Given the description of an element on the screen output the (x, y) to click on. 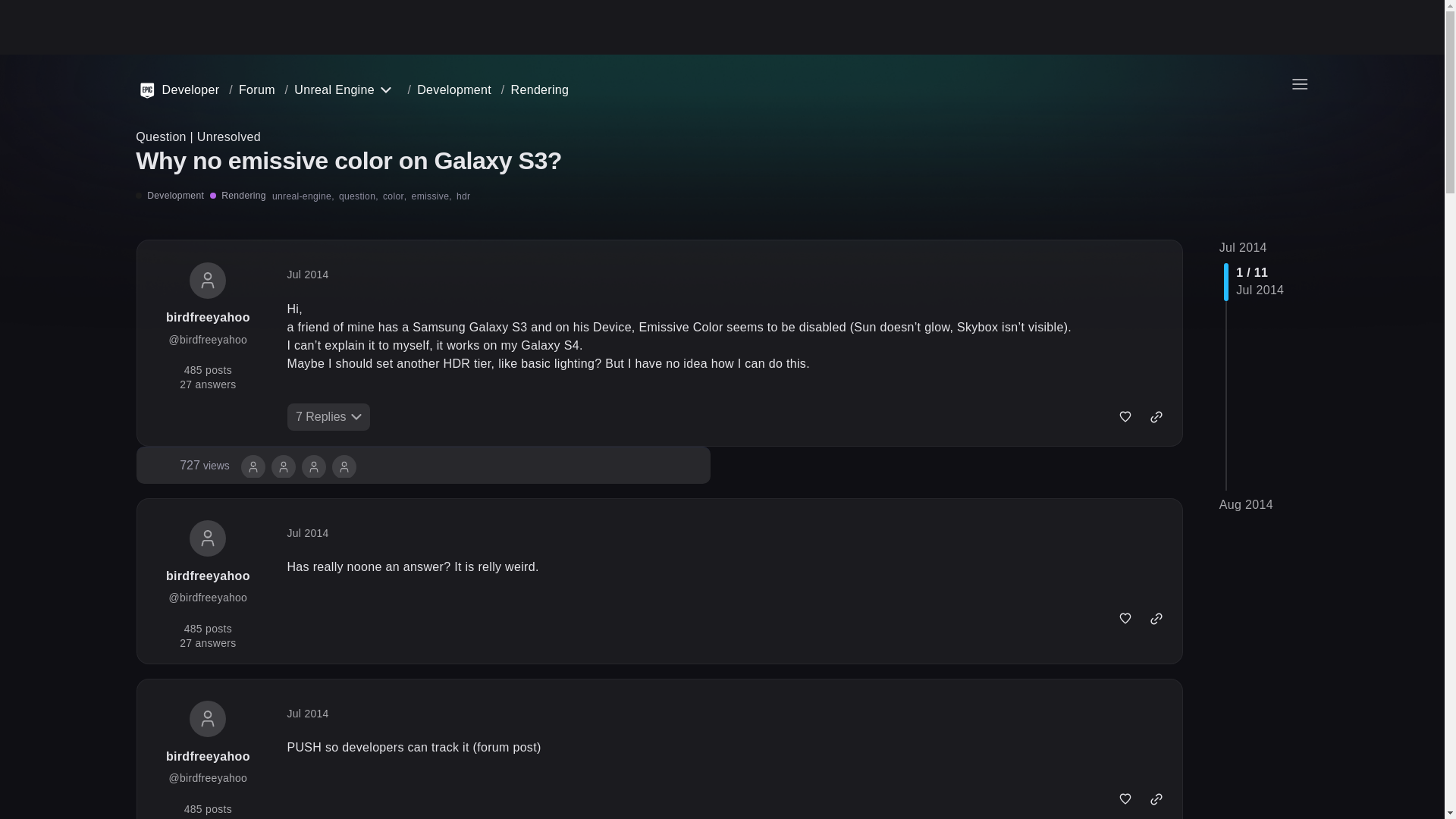
Forum (251, 89)
7 Replies (327, 416)
Jul 2014 (307, 274)
Jump to the last post (1246, 503)
Post date (307, 274)
Aug 2014 (1246, 504)
Development (454, 89)
Jump to the first post (1243, 246)
Jul 2014 (204, 465)
